Given the description of an element on the screen output the (x, y) to click on. 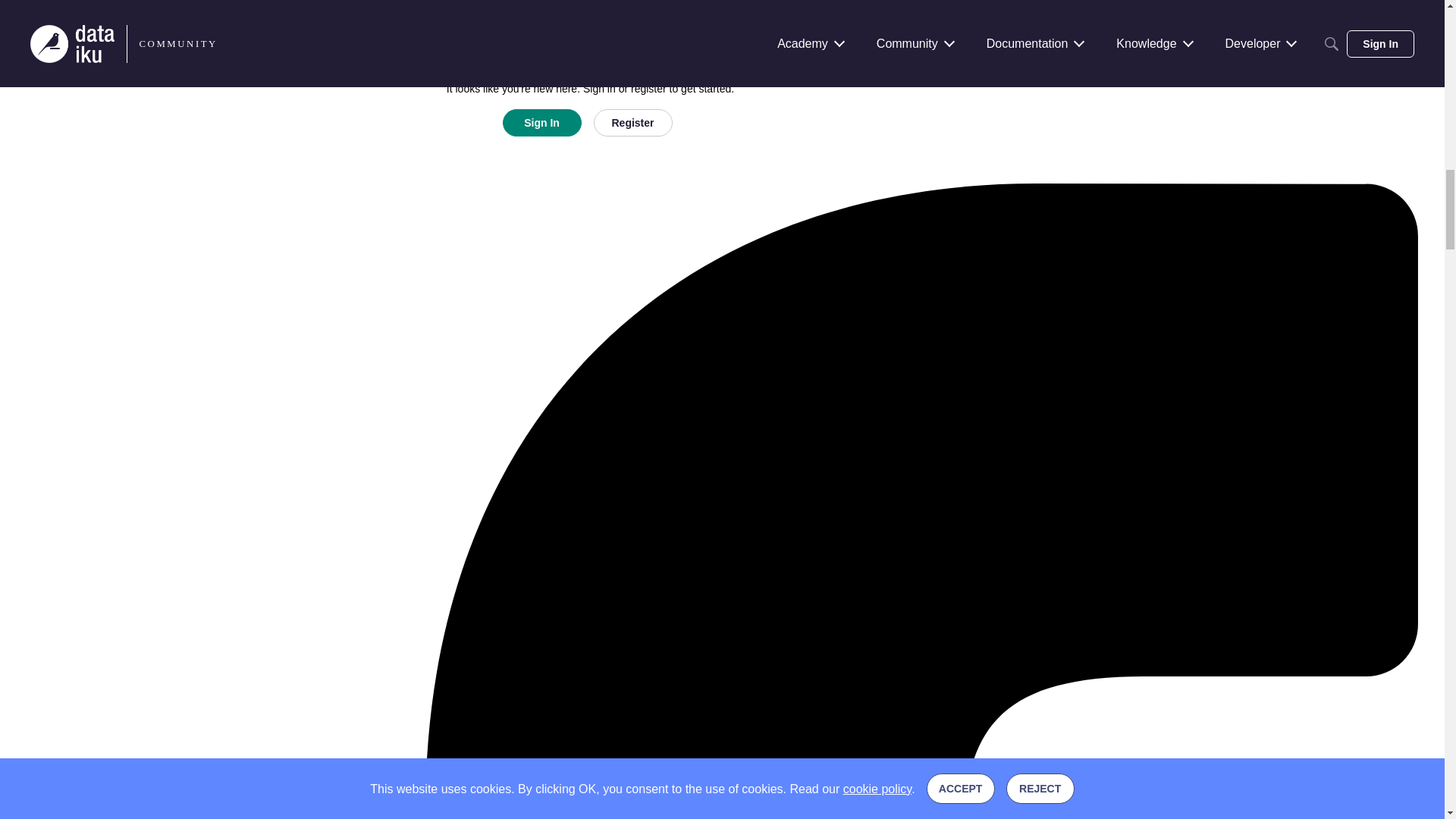
Register (631, 122)
Sign In (541, 122)
